Given the description of an element on the screen output the (x, y) to click on. 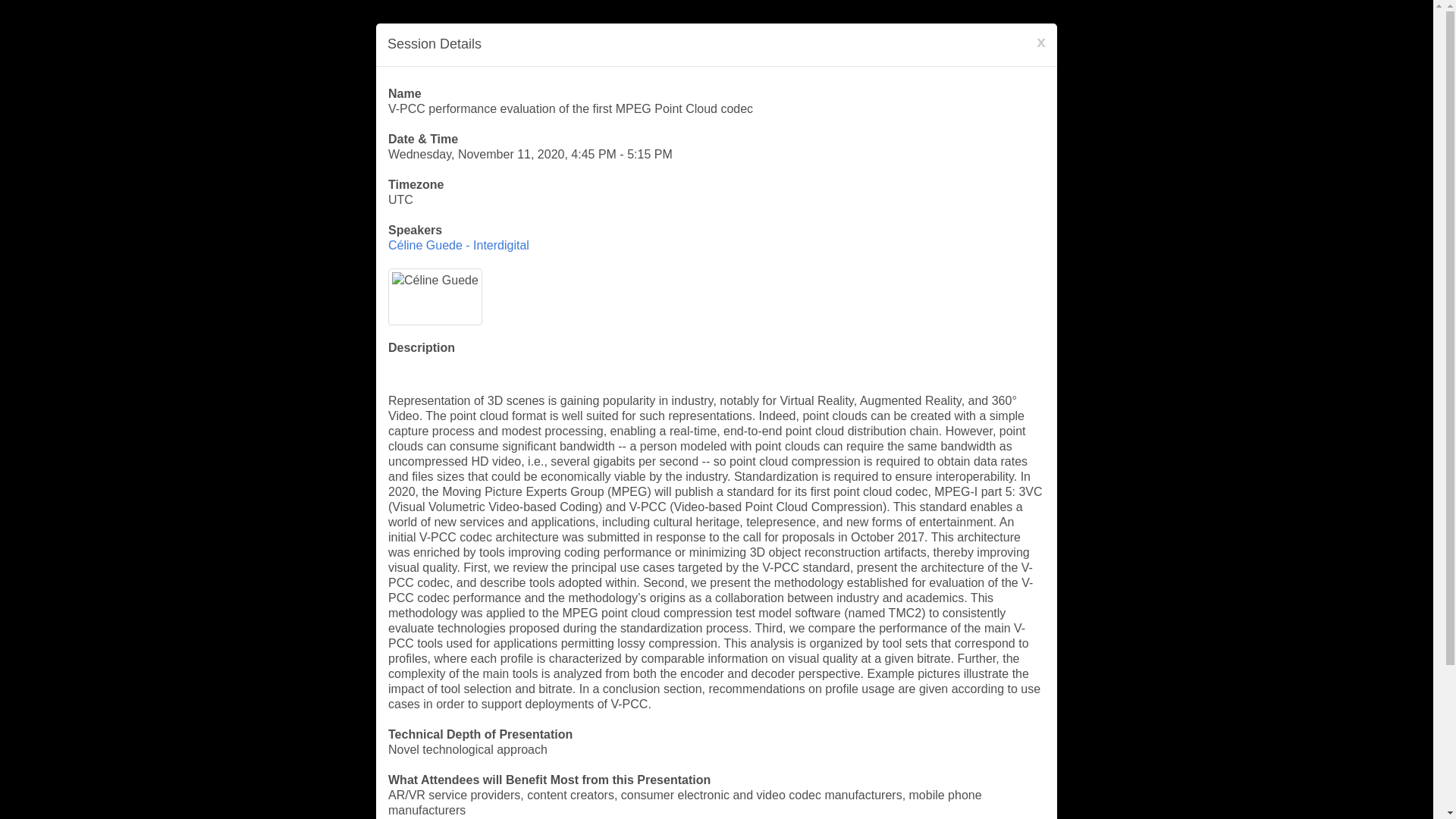
Speaker Details (458, 245)
x (1040, 41)
